Given the description of an element on the screen output the (x, y) to click on. 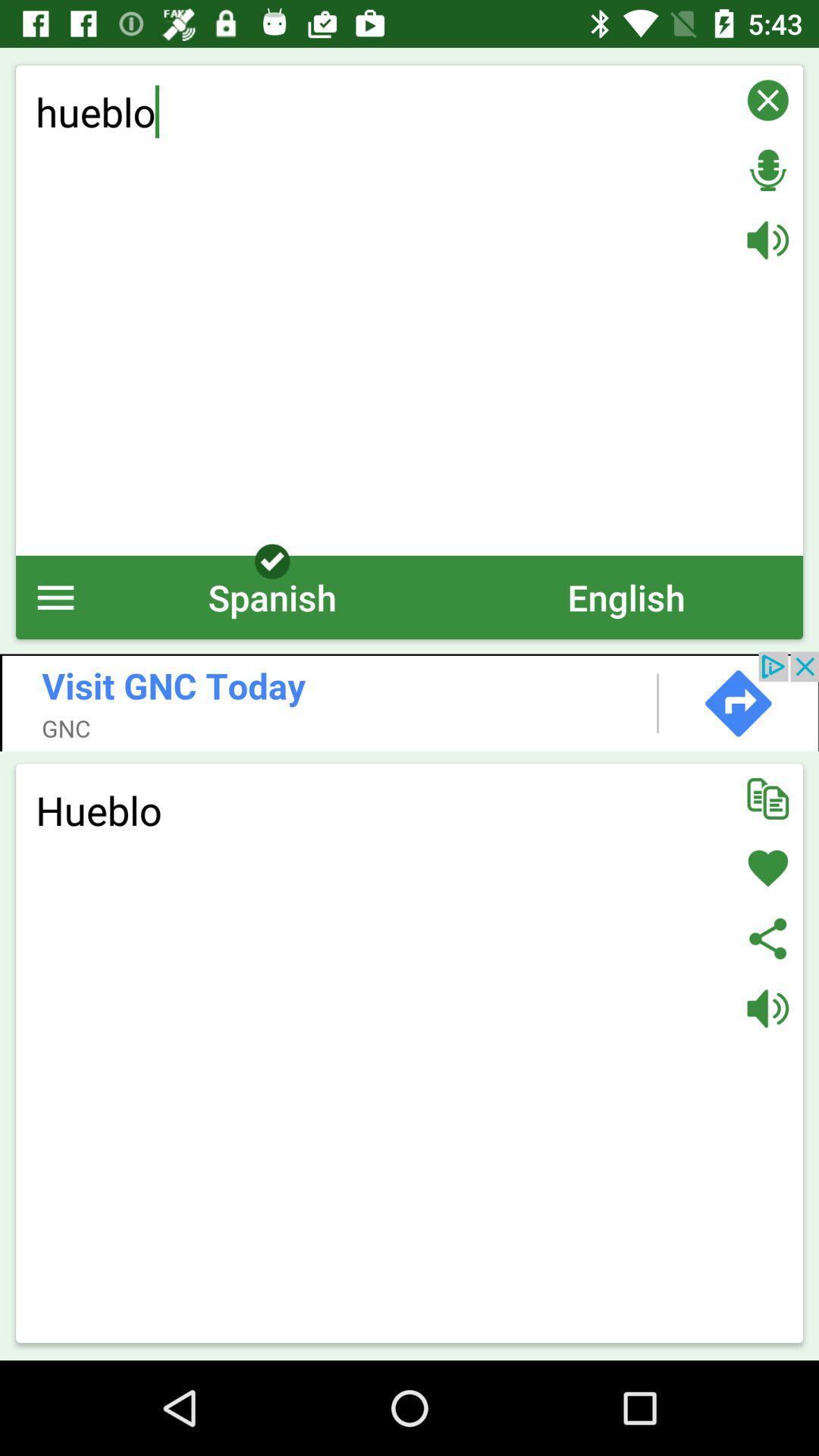
open spanish (272, 597)
